Given the description of an element on the screen output the (x, y) to click on. 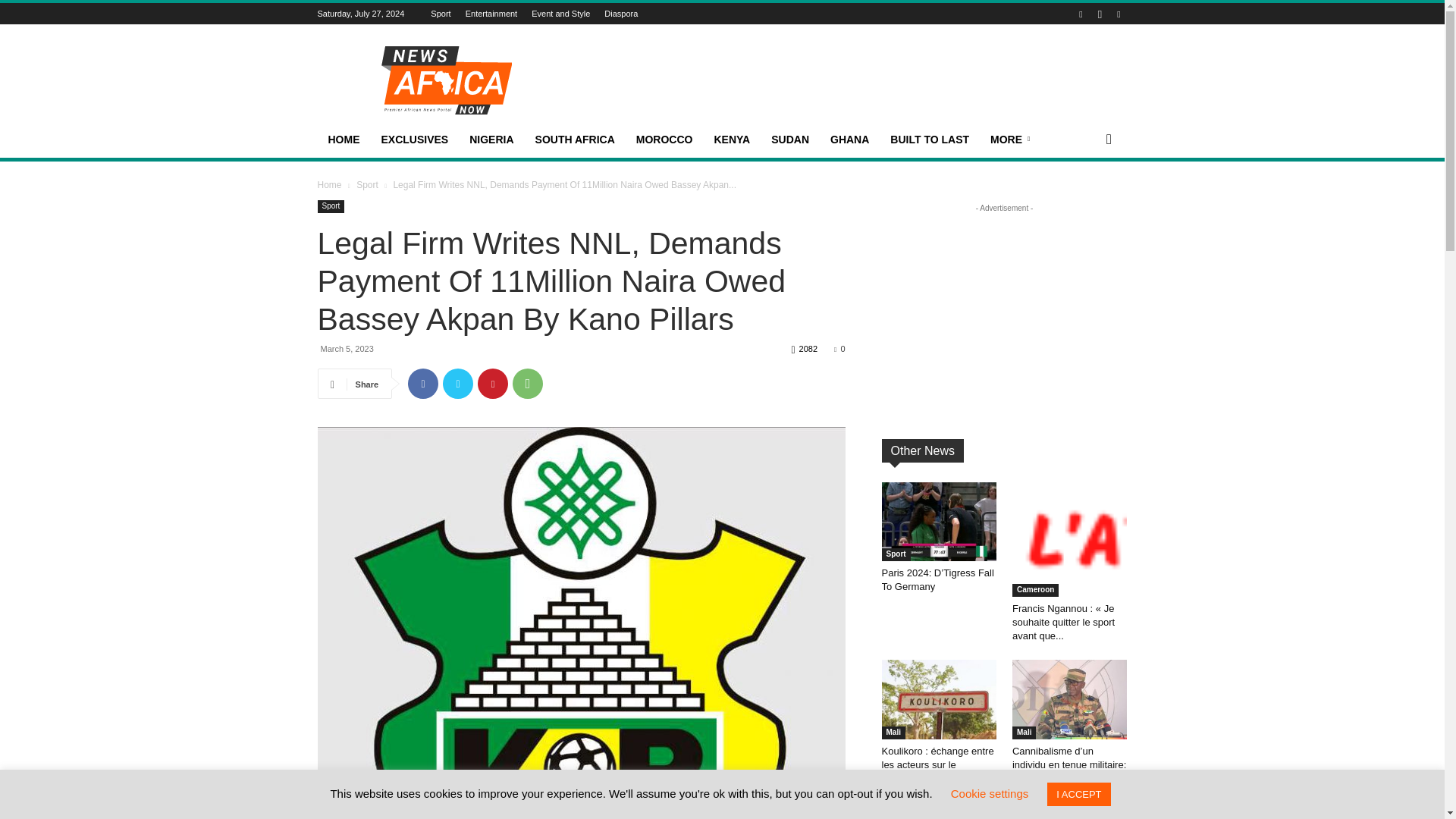
Entertainment (490, 13)
Pinterest (492, 383)
Advertisement (850, 79)
NIGERIA (491, 139)
EXCLUSIVES (413, 139)
Diaspora (620, 13)
Twitter (457, 383)
View all posts in Sport (367, 184)
Facebook (422, 383)
Event and Style (560, 13)
HOME (343, 139)
WhatsApp (527, 383)
MOROCCO (664, 139)
SOUTH AFRICA (575, 139)
